Given the description of an element on the screen output the (x, y) to click on. 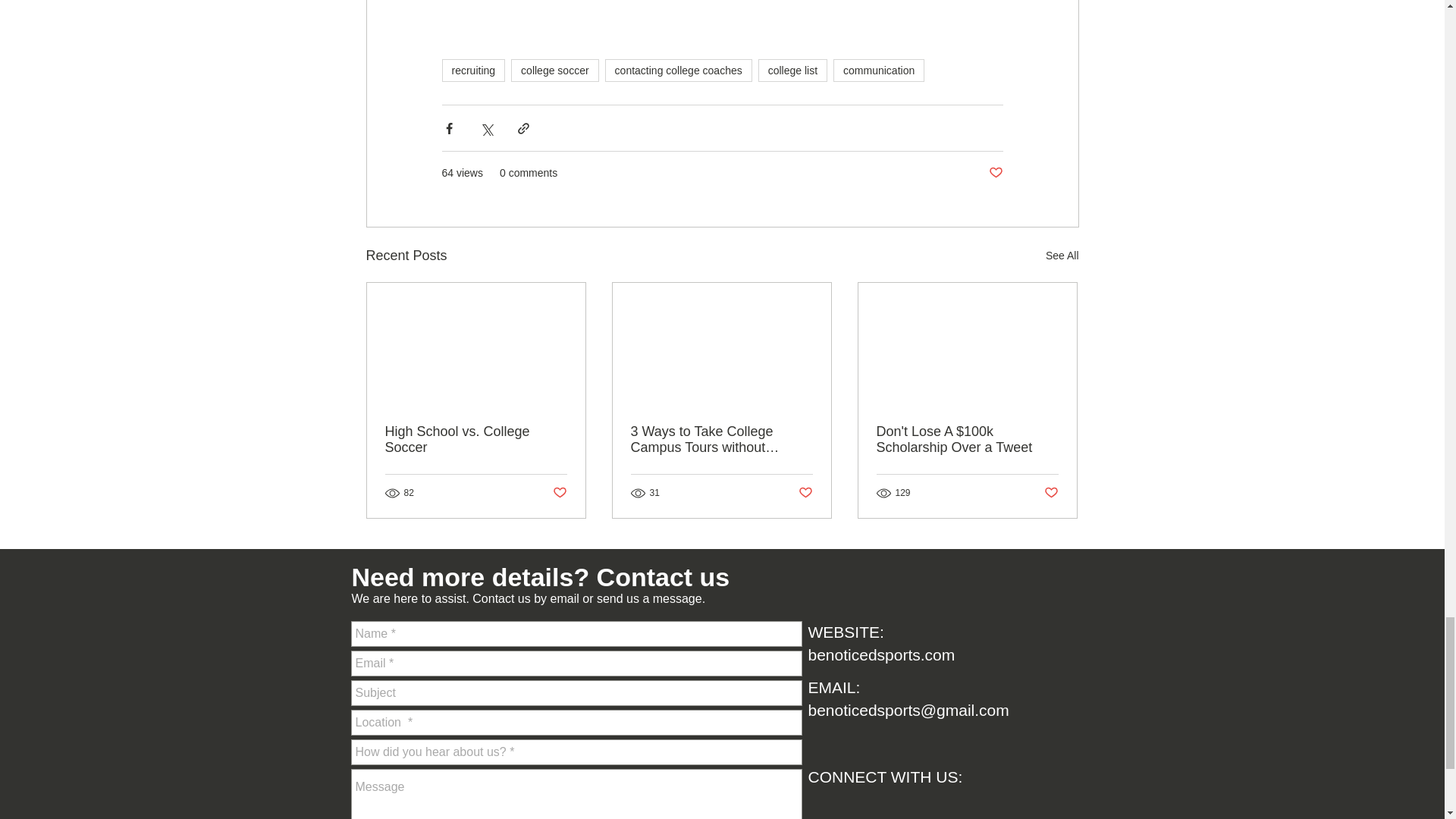
Post not marked as liked (995, 172)
Post not marked as liked (804, 493)
recruiting (473, 69)
college soccer (554, 69)
Post not marked as liked (558, 493)
3 Ways to Take College Campus Tours without Traveling (721, 439)
See All (1061, 255)
Post not marked as liked (1050, 493)
contacting college coaches (678, 69)
High School vs. College Soccer (476, 439)
college list (792, 69)
communication (878, 69)
